Given the description of an element on the screen output the (x, y) to click on. 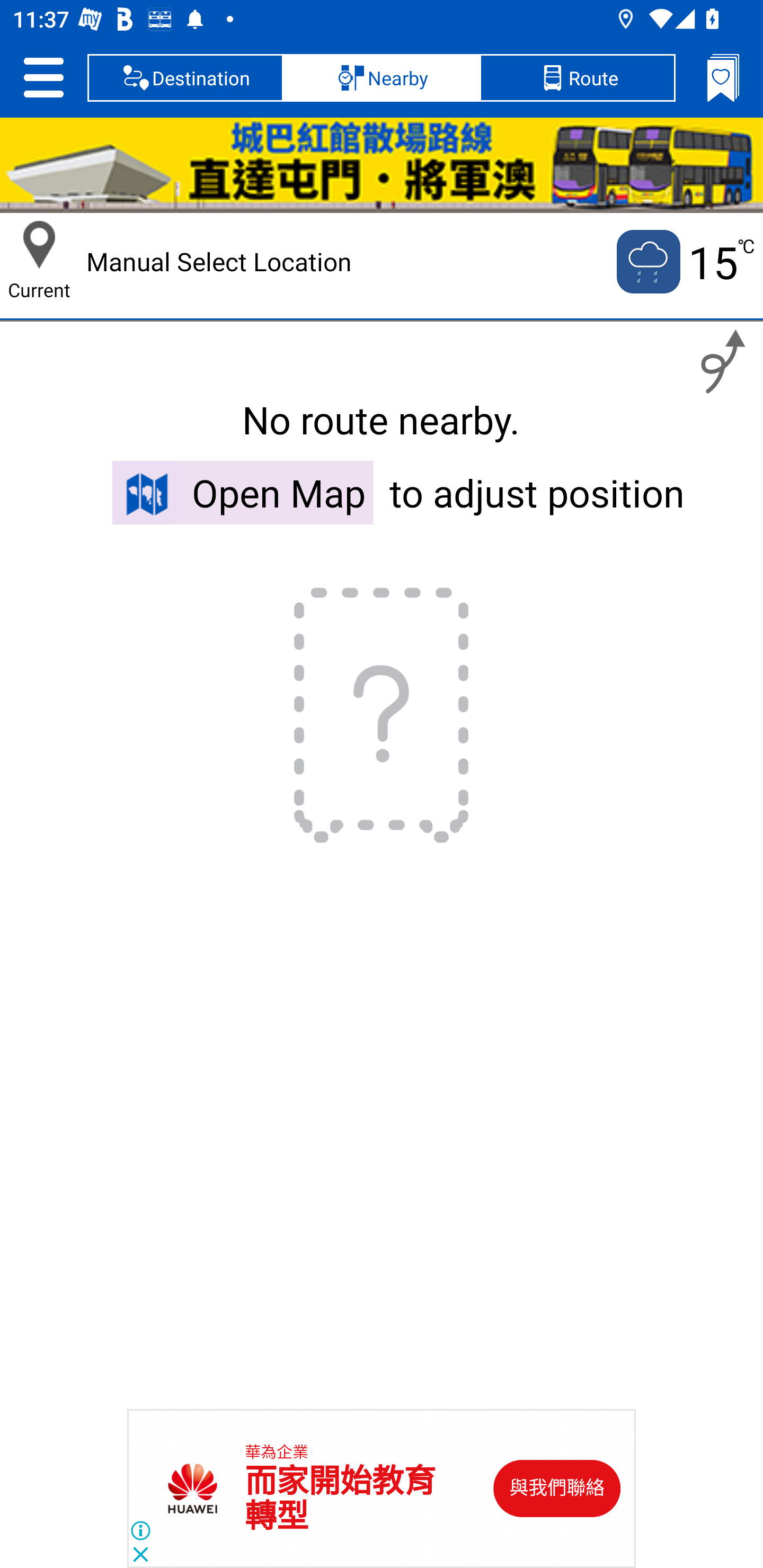
Destination (185, 77)
Nearby, selected (381, 77)
Route (577, 77)
Bookmarks (723, 77)
Setting (43, 77)
HKC (381, 165)
Current Location (38, 244)
Current temputure is  15  no 15 ℃ (684, 261)
Open Map (242, 491)
華為企業 (276, 1452)
與我們聯絡 (556, 1488)
而家開始教育 轉型 而家開始教育 轉型 (339, 1498)
